Given the description of an element on the screen output the (x, y) to click on. 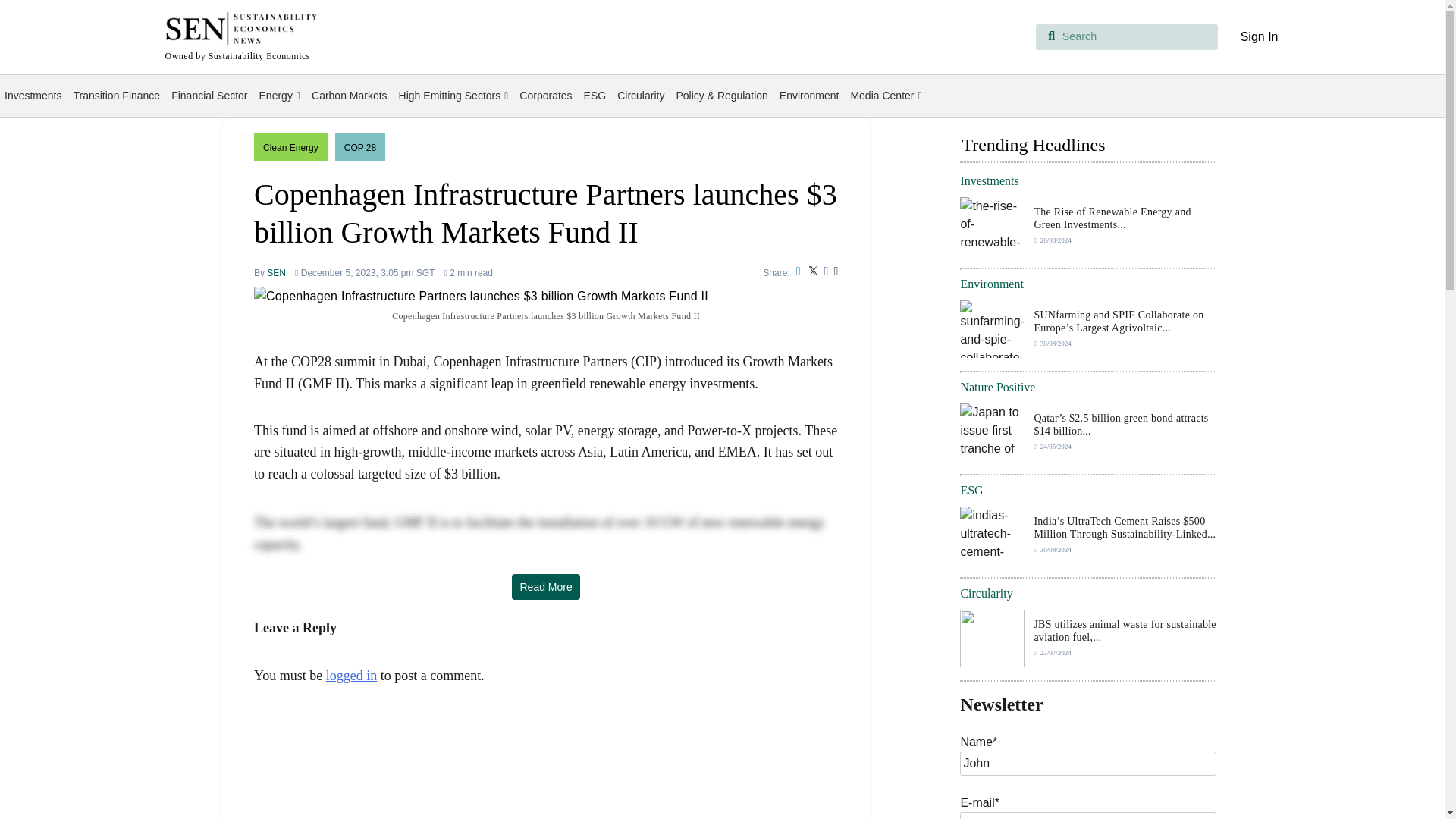
Financial Sector (209, 95)
Investments (32, 95)
Energy (279, 95)
Sign In (1259, 36)
Transition Finance (116, 95)
